Given the description of an element on the screen output the (x, y) to click on. 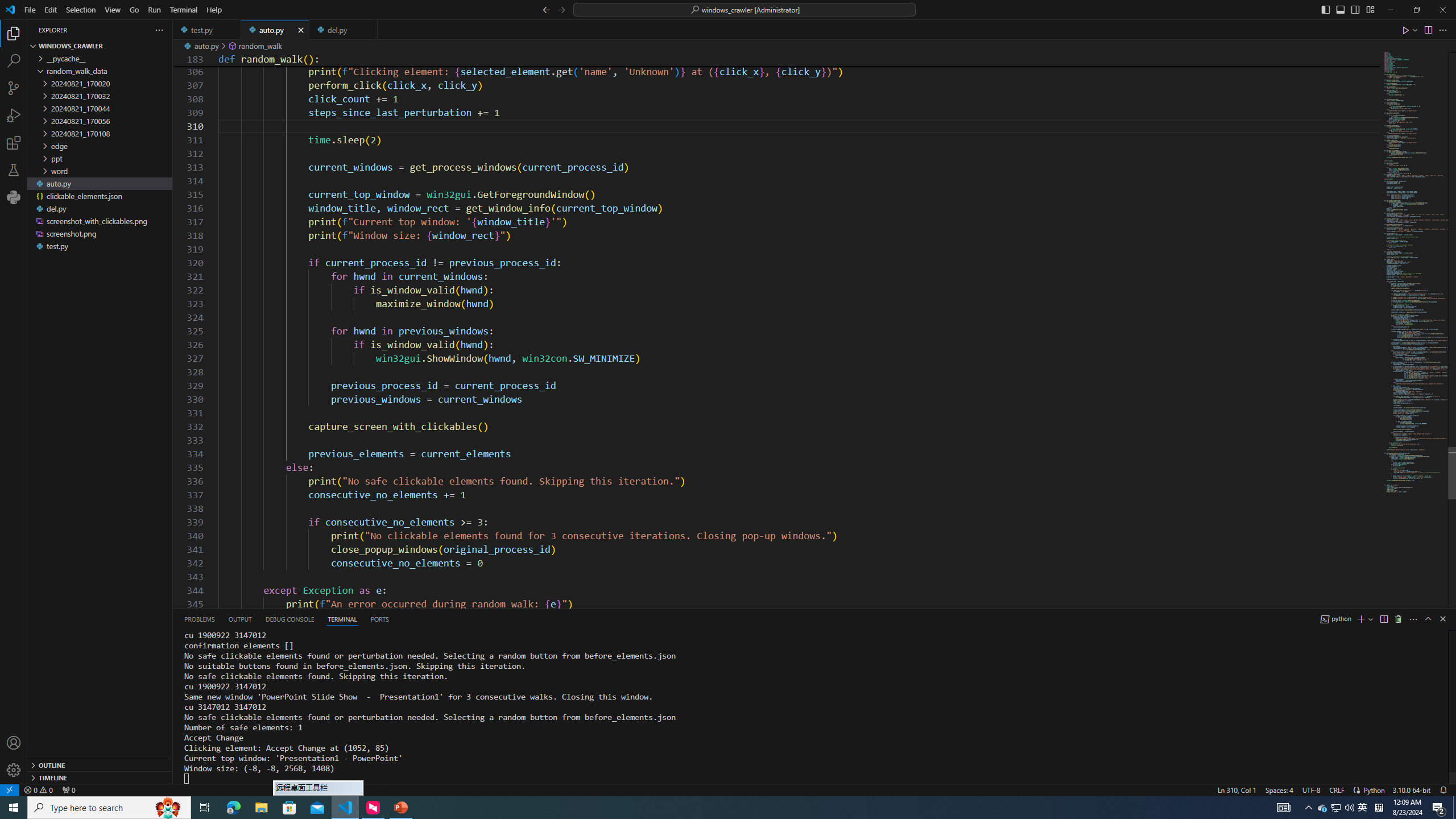
Maximize Panel Size (1428, 618)
Search (Ctrl+Shift+F) (13, 60)
Launch Profile... (1370, 618)
Extensions (Ctrl+Shift+X) (13, 142)
Explorer actions (118, 29)
Toggle Secondary Side Bar (Ctrl+Alt+B) (1355, 9)
Terminal (Ctrl+`) (342, 618)
test.py (207, 29)
No Ports Forwarded (68, 789)
Go (134, 9)
